Given the description of an element on the screen output the (x, y) to click on. 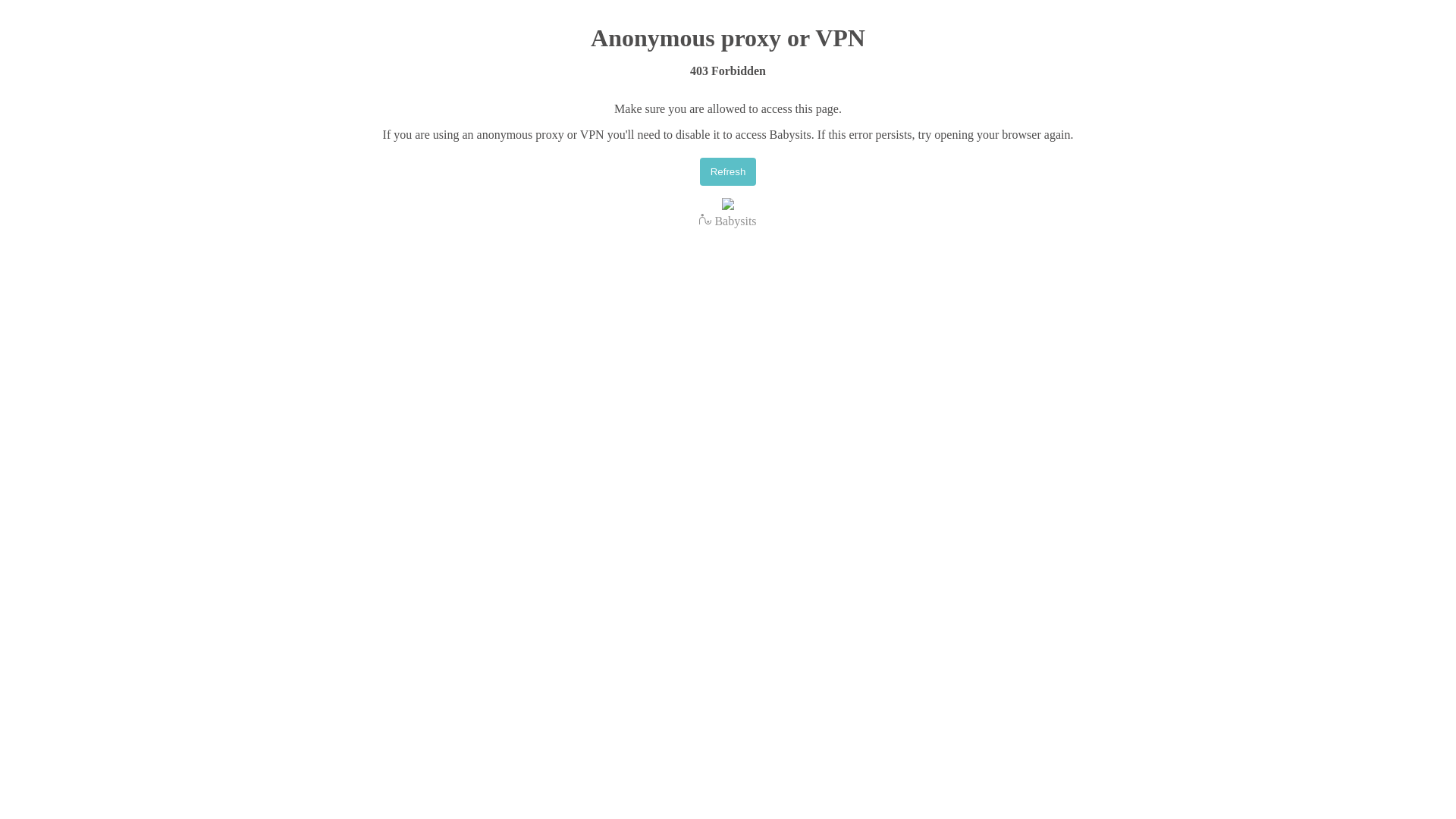
Refresh Element type: text (727, 171)
